Given the description of an element on the screen output the (x, y) to click on. 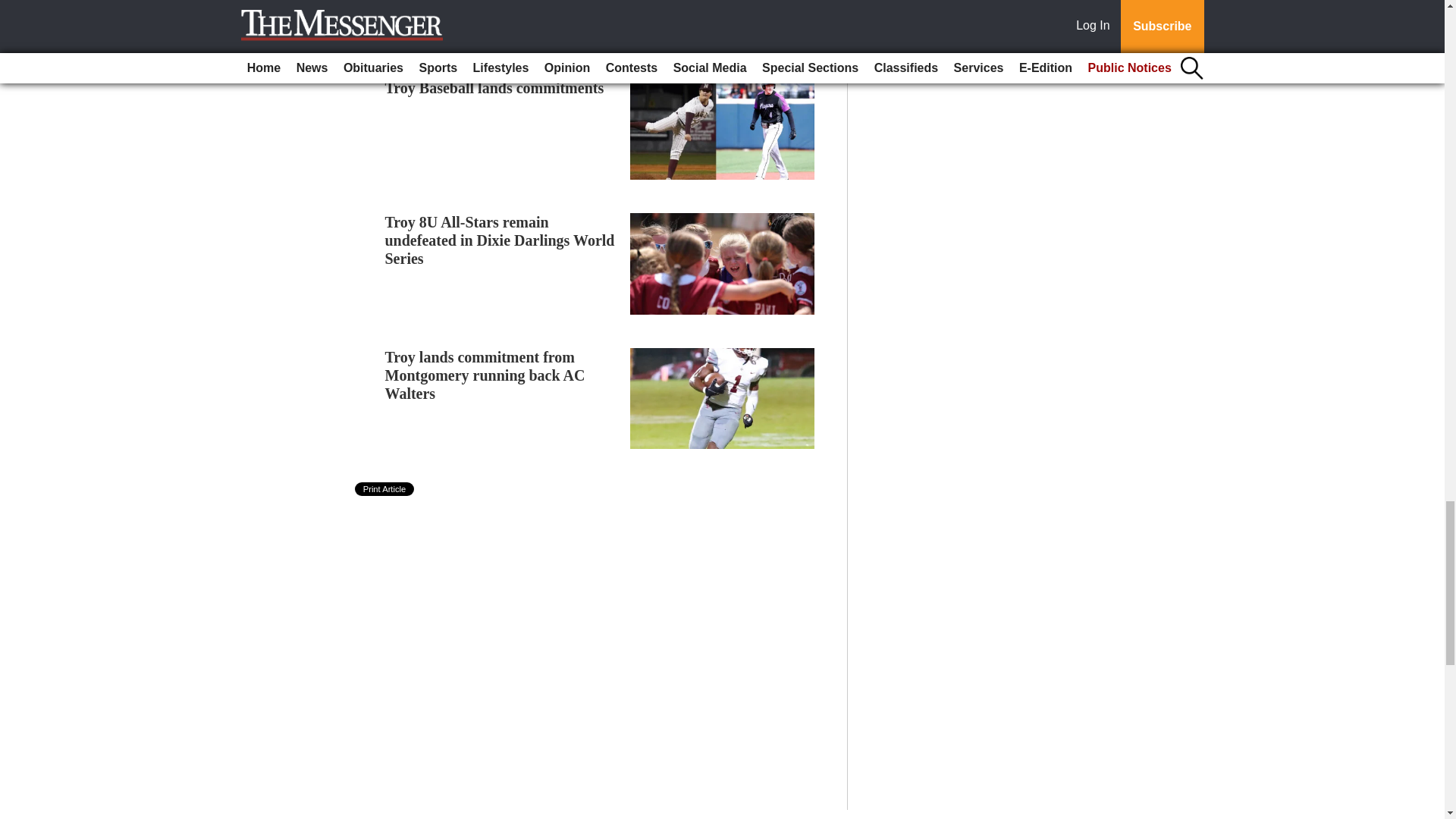
Troy Baseball lands commitments (494, 87)
